Given the description of an element on the screen output the (x, y) to click on. 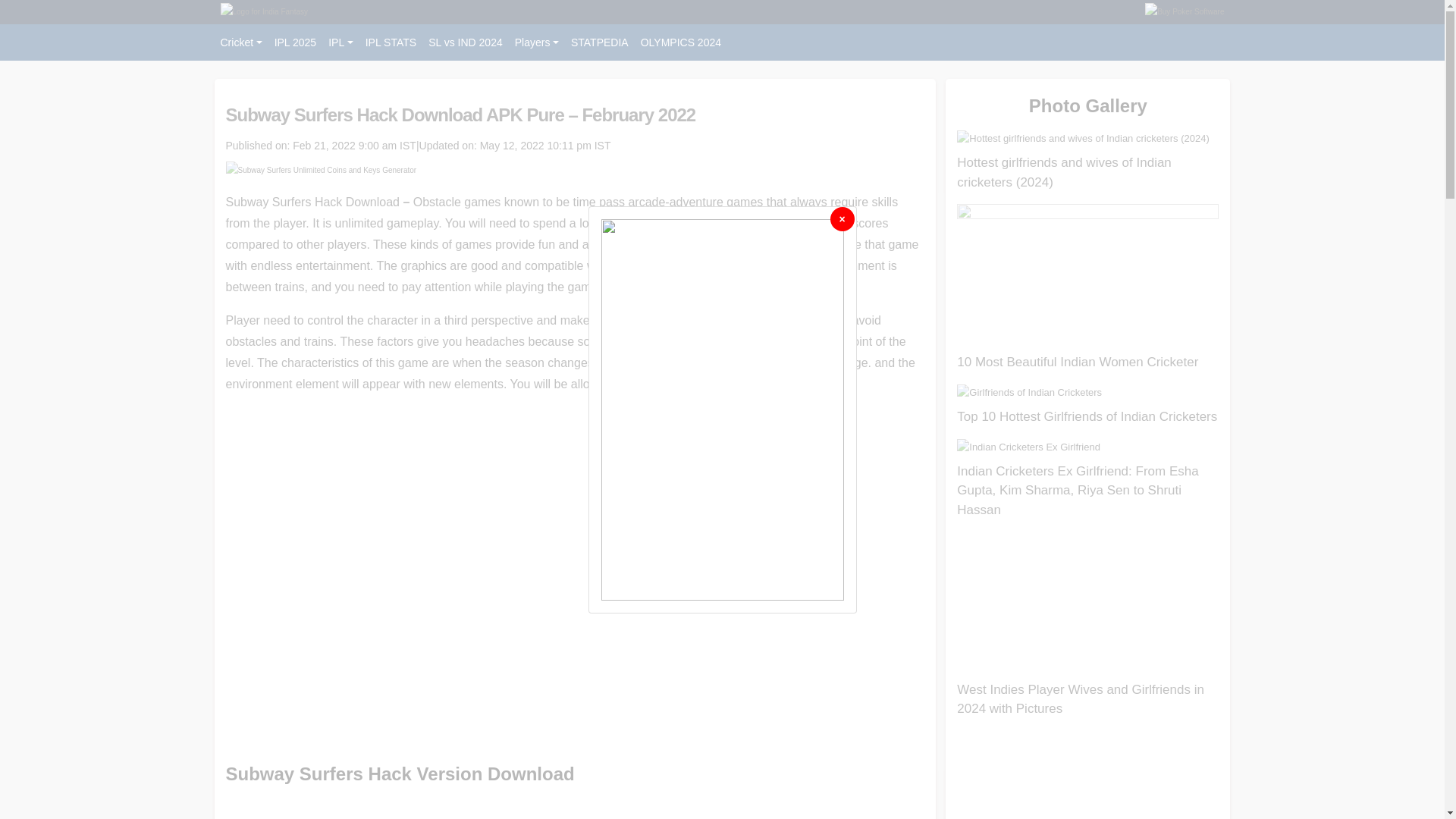
10 Most Beautiful Indian Women Cricketer (1077, 361)
Cricket (240, 42)
Top 10 Hottest Girlfriends of Indian Cricketers (1086, 416)
